Given the description of an element on the screen output the (x, y) to click on. 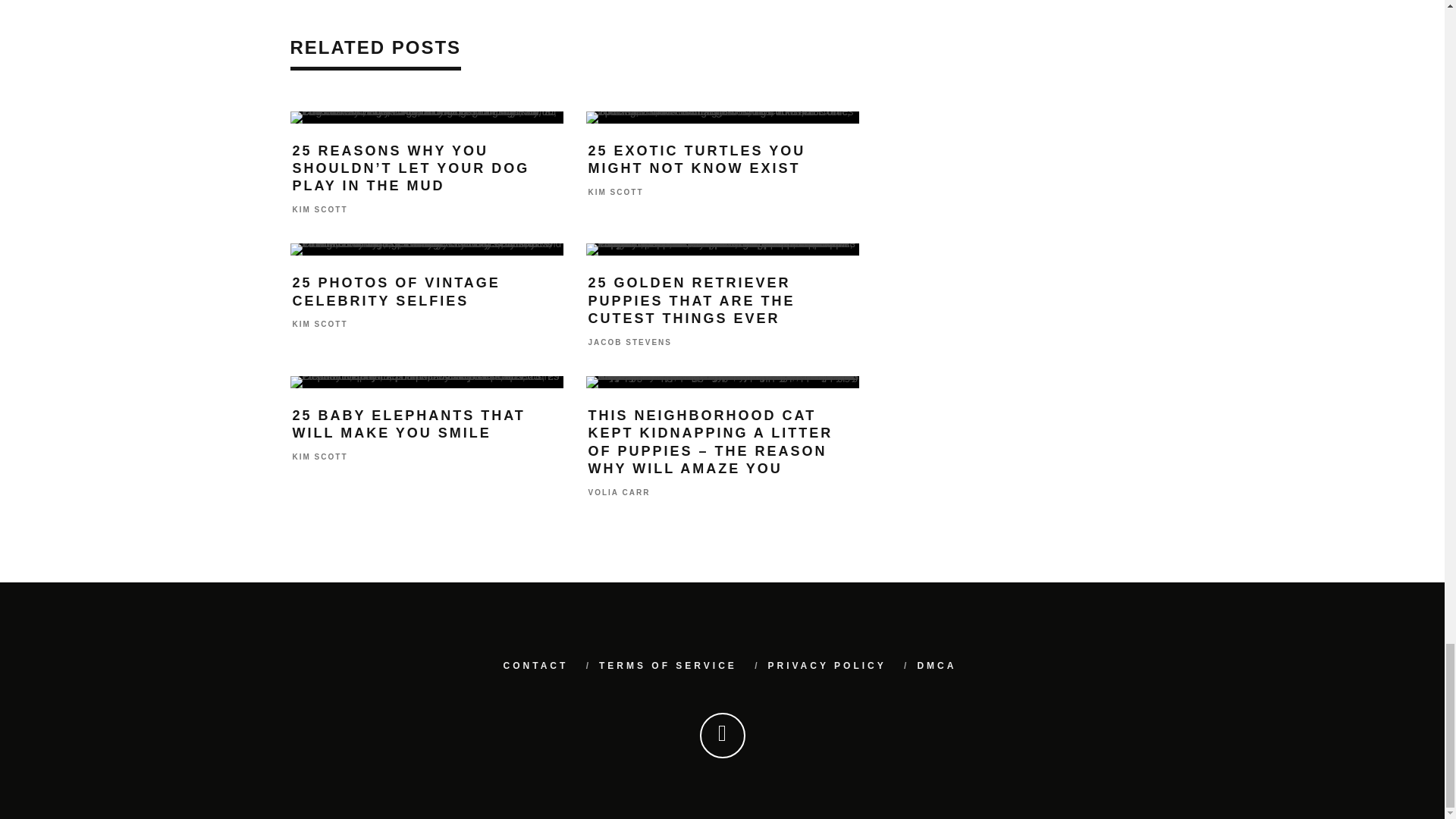
KIM SCOTT (319, 209)
